Given the description of an element on the screen output the (x, y) to click on. 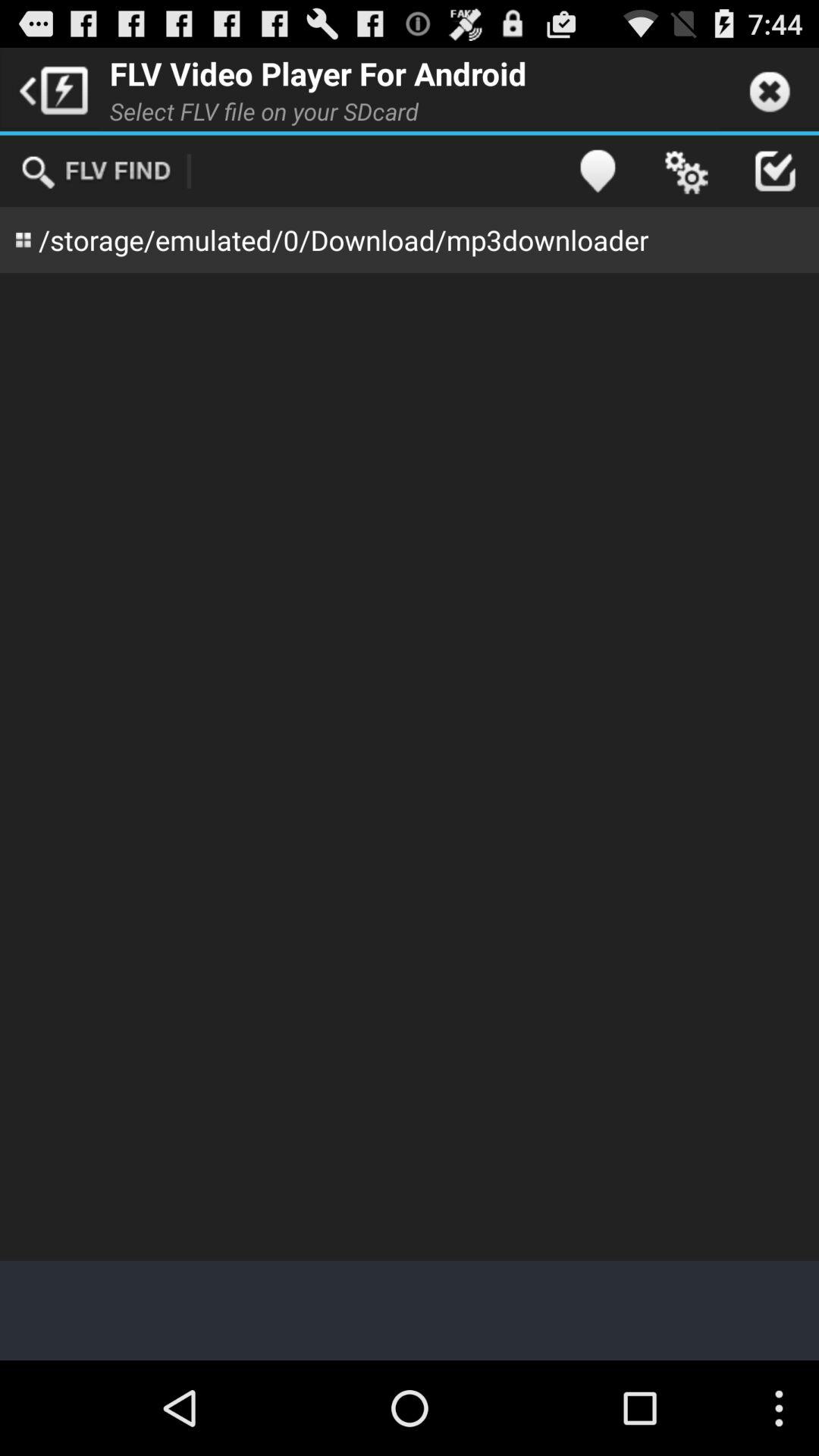
launch icon above storage emulated 0 app (596, 171)
